Given the description of an element on the screen output the (x, y) to click on. 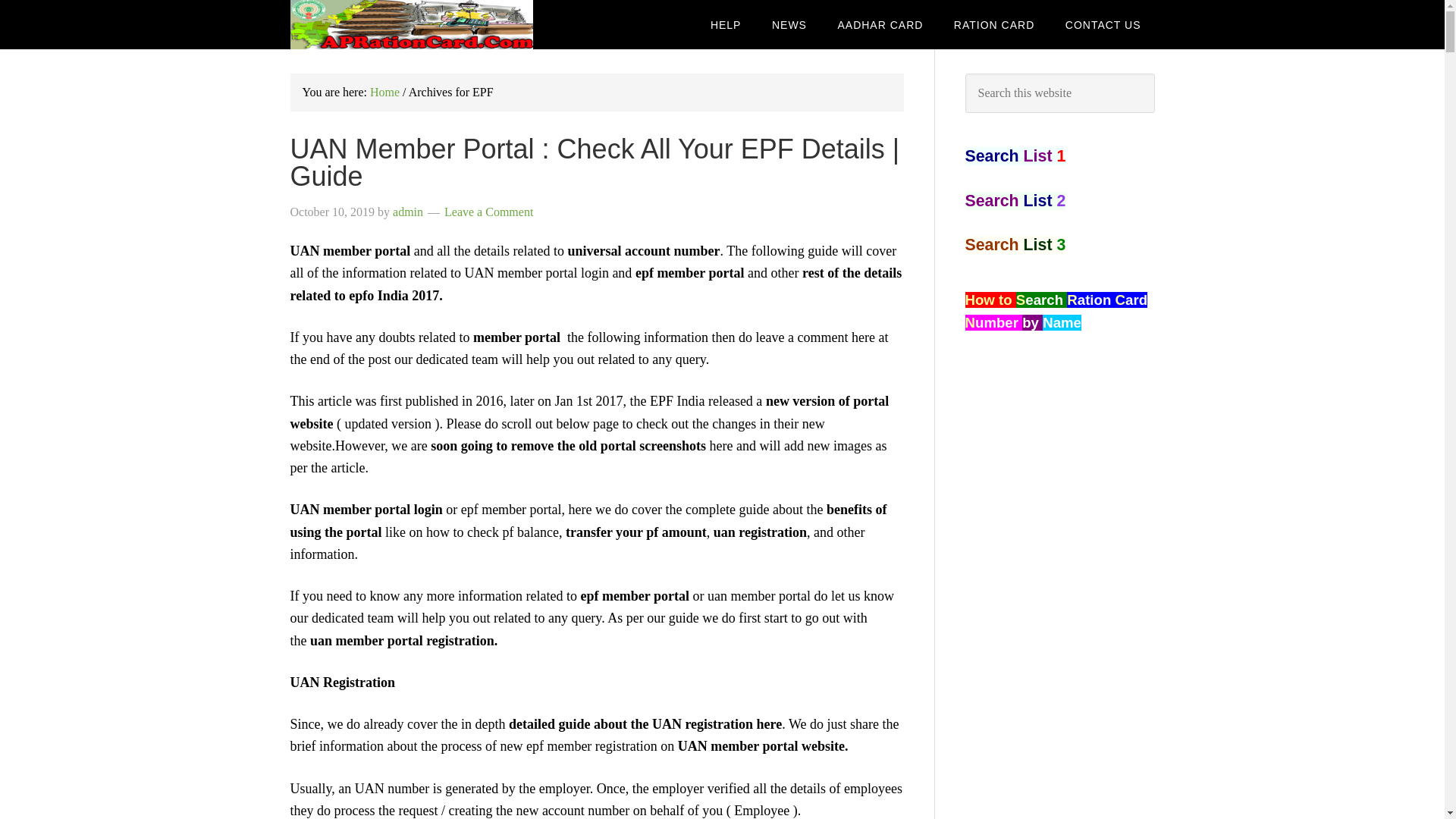
Home (383, 91)
HELP (726, 24)
CONTACT US (1102, 24)
APRATIONCARD (410, 24)
Leave a Comment (488, 211)
NEWS (789, 24)
admin (408, 211)
RATION CARD (994, 24)
